Given the description of an element on the screen output the (x, y) to click on. 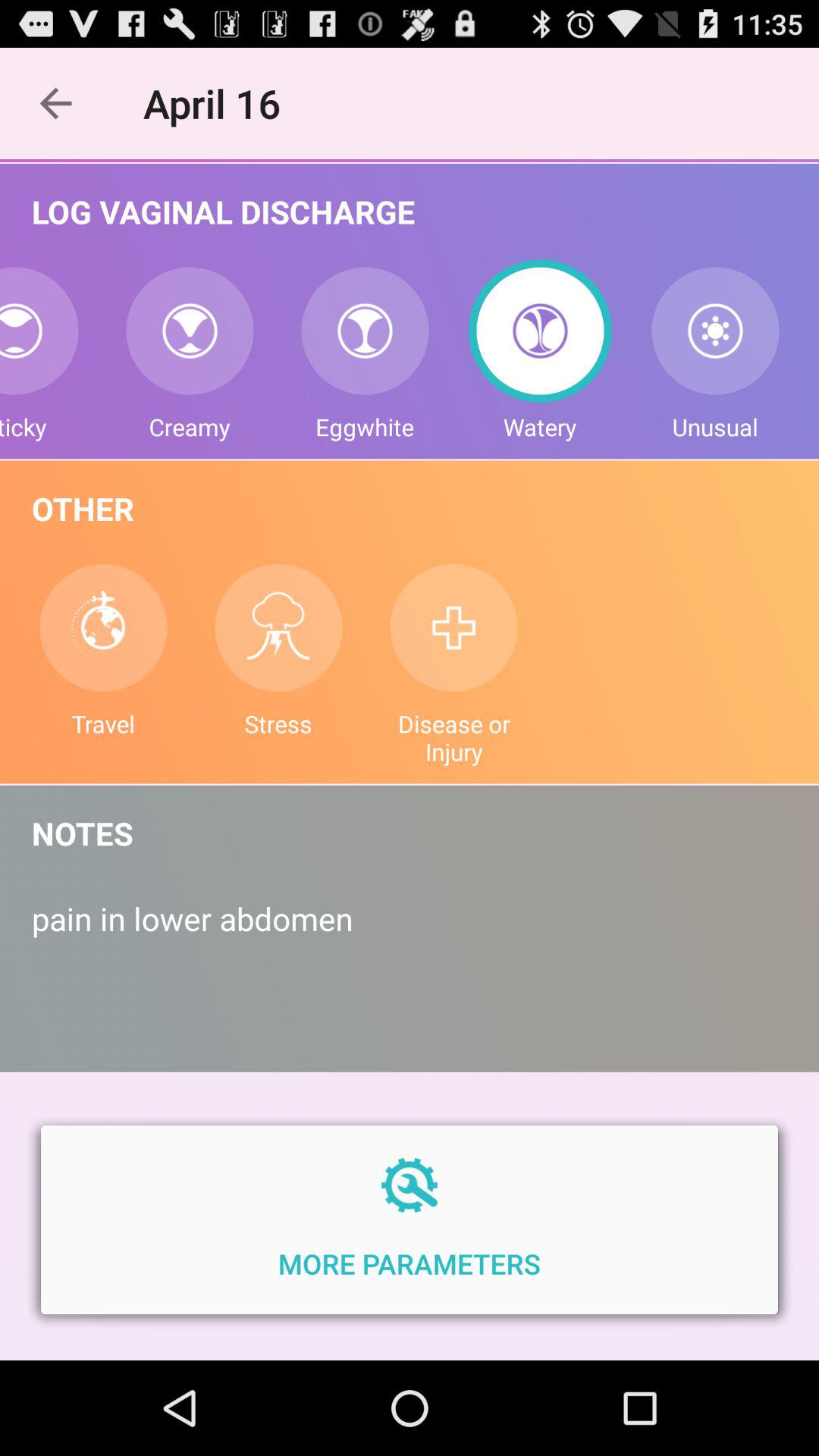
choose april 16 (220, 103)
select second icon under other (278, 628)
click on third icon under other (453, 628)
